Given the description of an element on the screen output the (x, y) to click on. 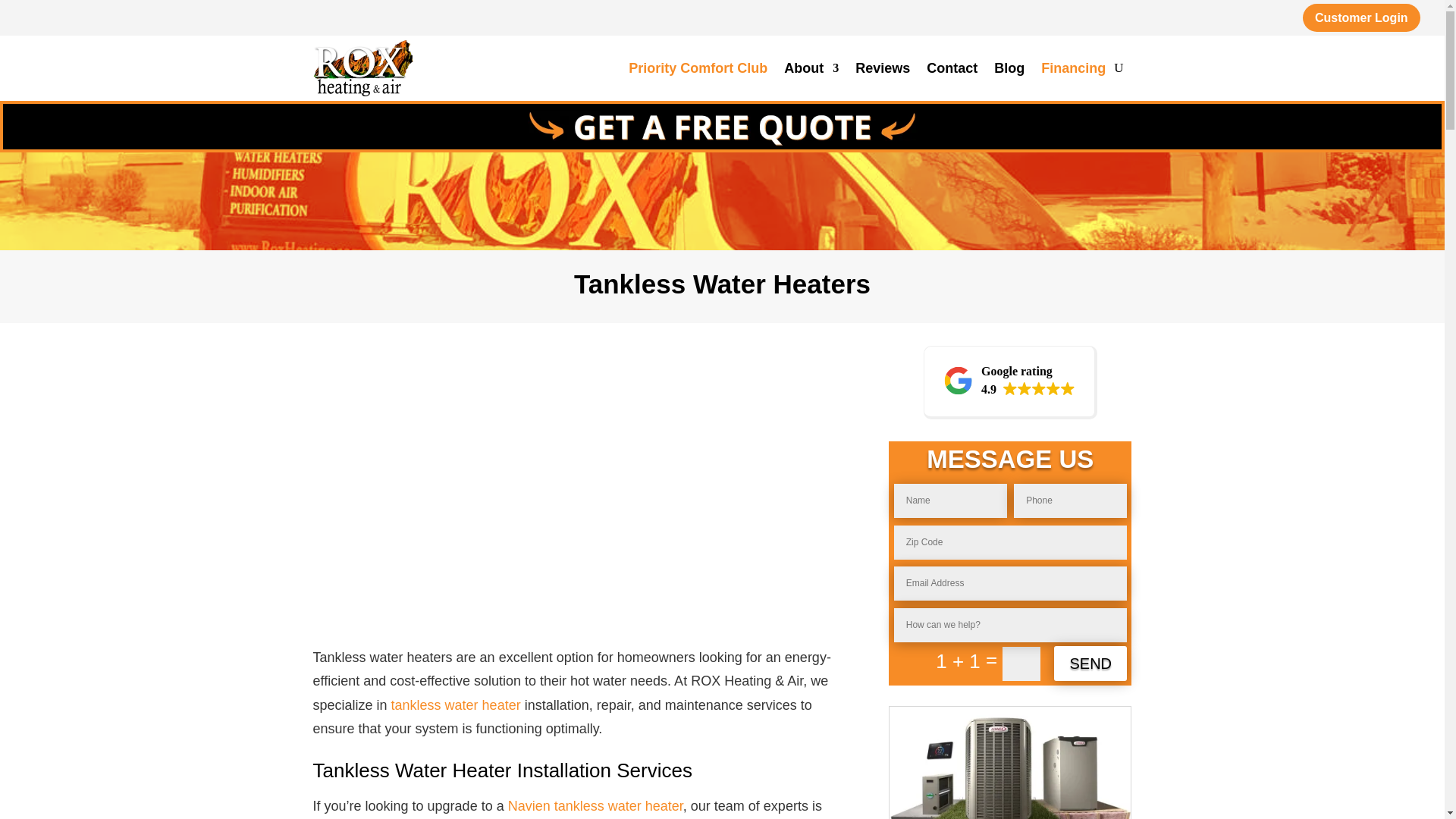
tankless water heater (456, 704)
About (1010, 382)
Reviews (811, 68)
Maximum length: 255 characters. (883, 68)
Navien tankless water heater (1009, 625)
Apply Today (595, 806)
Financing (1073, 68)
SEND (1073, 68)
Minimum length: 5 characters. Maximum length: 5 characters. (1090, 663)
